Given the description of an element on the screen output the (x, y) to click on. 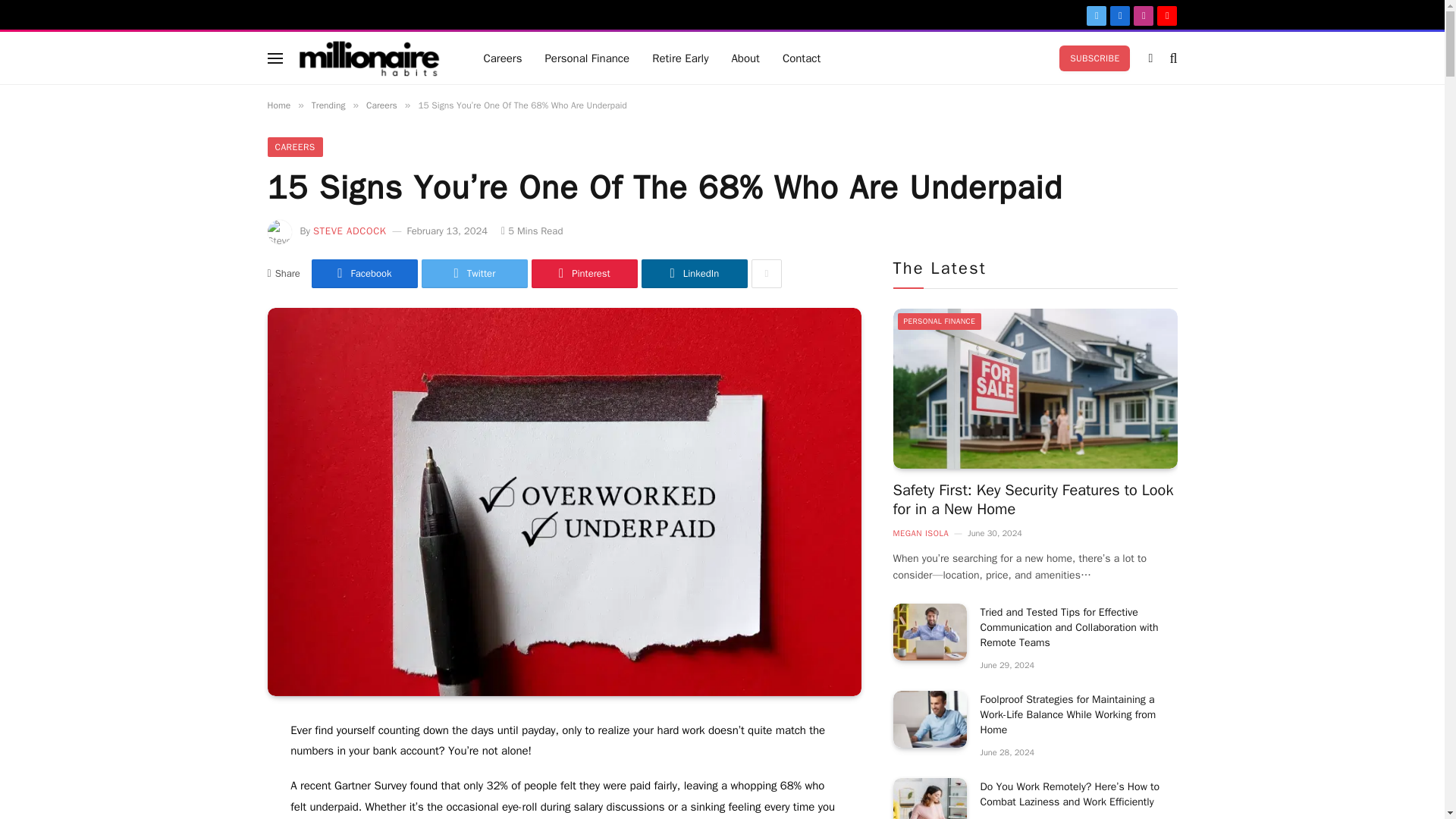
Twitter (474, 273)
Share on LinkedIn (695, 273)
About (744, 57)
Careers (501, 57)
Personal Finance (586, 57)
Share on Facebook (364, 273)
YouTube (1166, 15)
Careers (381, 105)
Facebook (364, 273)
CAREERS (293, 147)
LinkedIn (695, 273)
Instagram (1143, 15)
Contact (801, 57)
Millionaire Habits (369, 58)
Facebook (1119, 15)
